Given the description of an element on the screen output the (x, y) to click on. 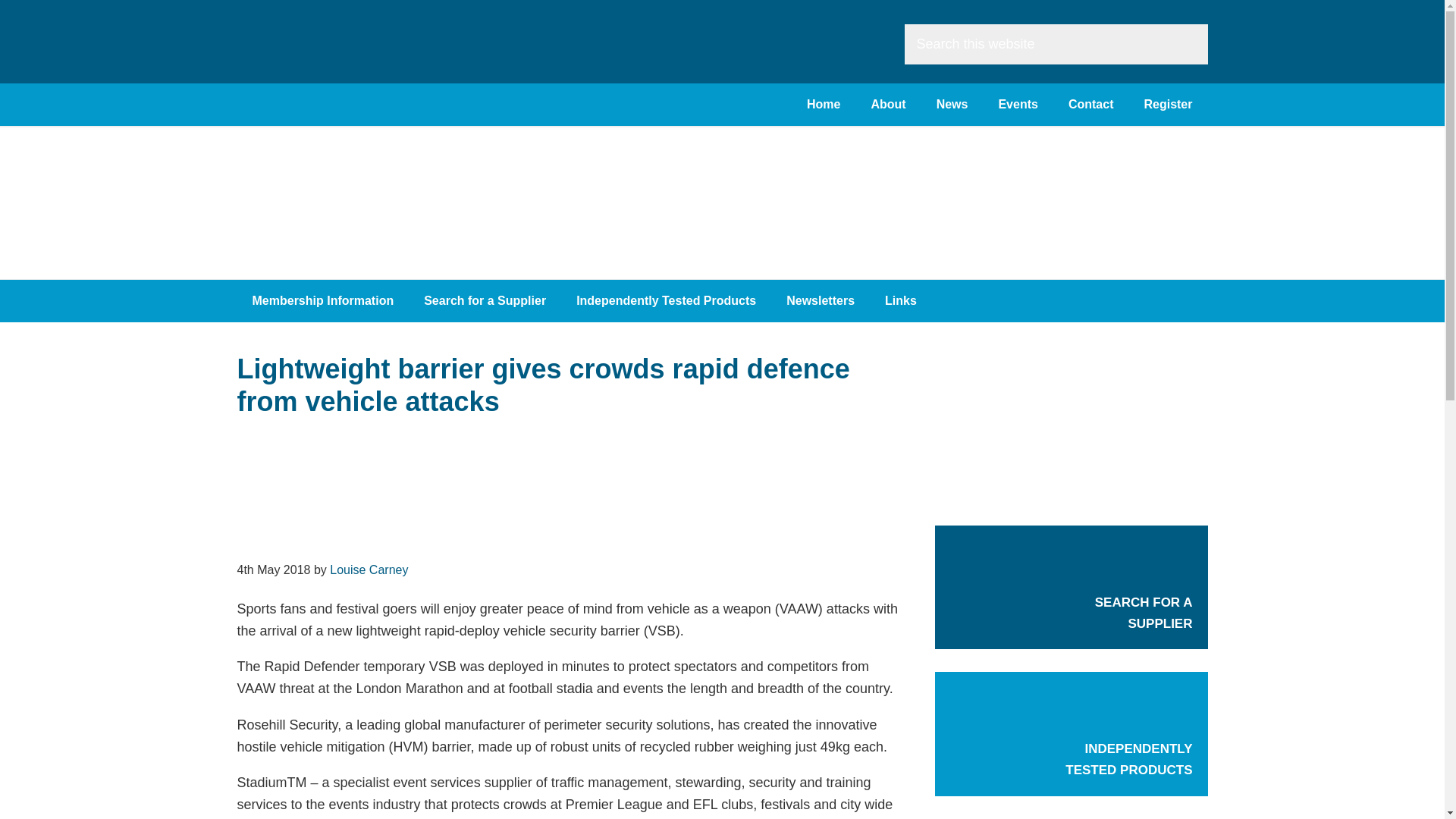
PSSA (368, 62)
Search for a Supplier (484, 301)
News (952, 104)
Events (1017, 104)
Register (1167, 104)
Membership Information (322, 301)
Newsletters (820, 301)
Independently Tested Products (665, 301)
Contact (1090, 104)
Home (824, 104)
About (888, 104)
